Given the description of an element on the screen output the (x, y) to click on. 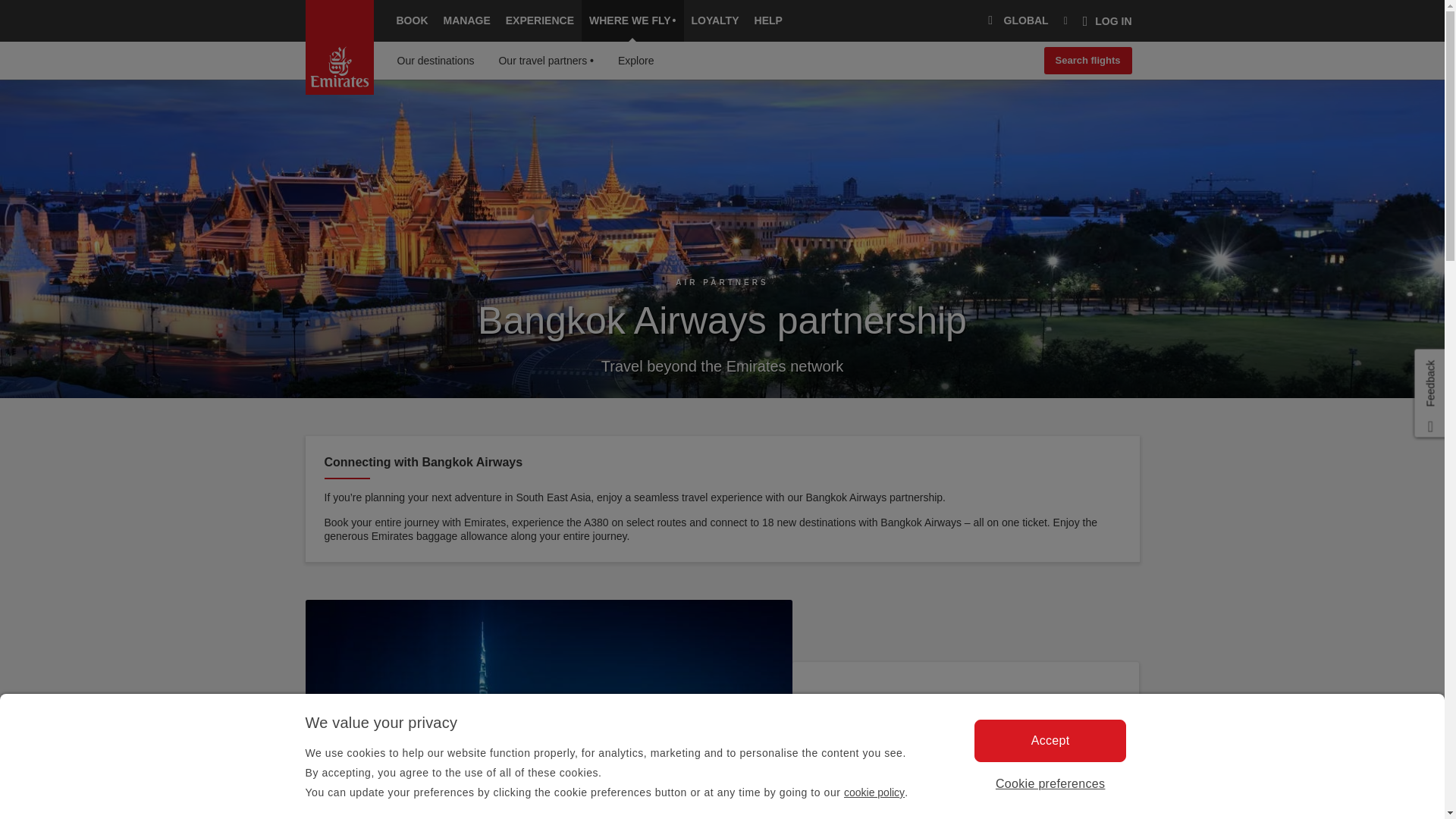
EXPERIENCE (538, 20)
MANAGE (466, 20)
Skip to the main content (382, 116)
LOYALTY (715, 20)
LOG IN (1107, 20)
HELP (768, 20)
GLOBAL (1015, 20)
Accessibility information (383, 116)
Search flights (1087, 60)
BOOK (411, 20)
